Given the description of an element on the screen output the (x, y) to click on. 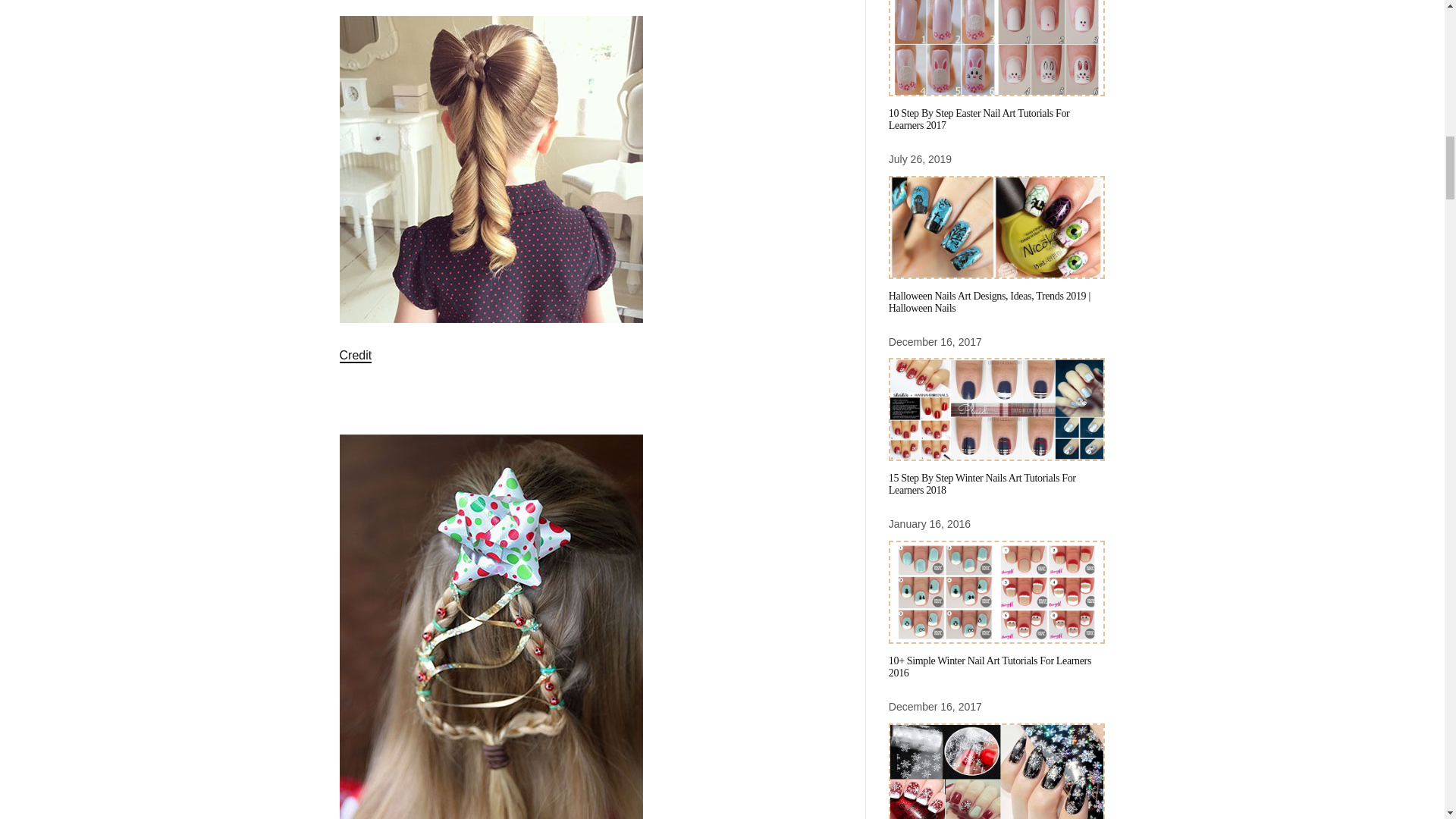
Credit (355, 355)
